Given the description of an element on the screen output the (x, y) to click on. 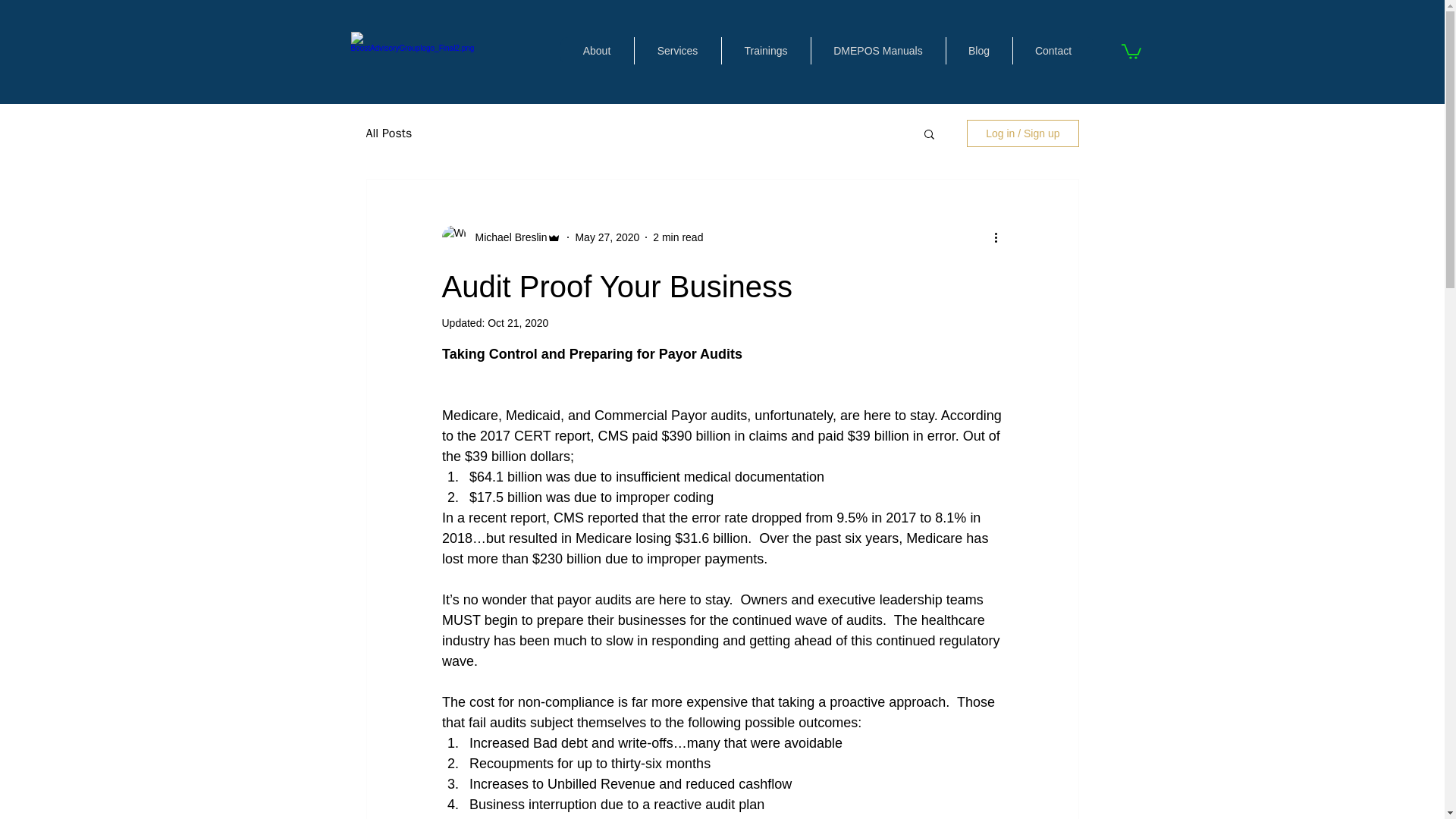
Services (676, 50)
Oct 21, 2020 (517, 322)
DMEPOS Manuals (876, 50)
May 27, 2020 (607, 236)
Contact (1052, 50)
2 min read (677, 236)
All Posts (388, 133)
boost logo (412, 50)
About (596, 50)
Michael Breslin (506, 236)
